Given the description of an element on the screen output the (x, y) to click on. 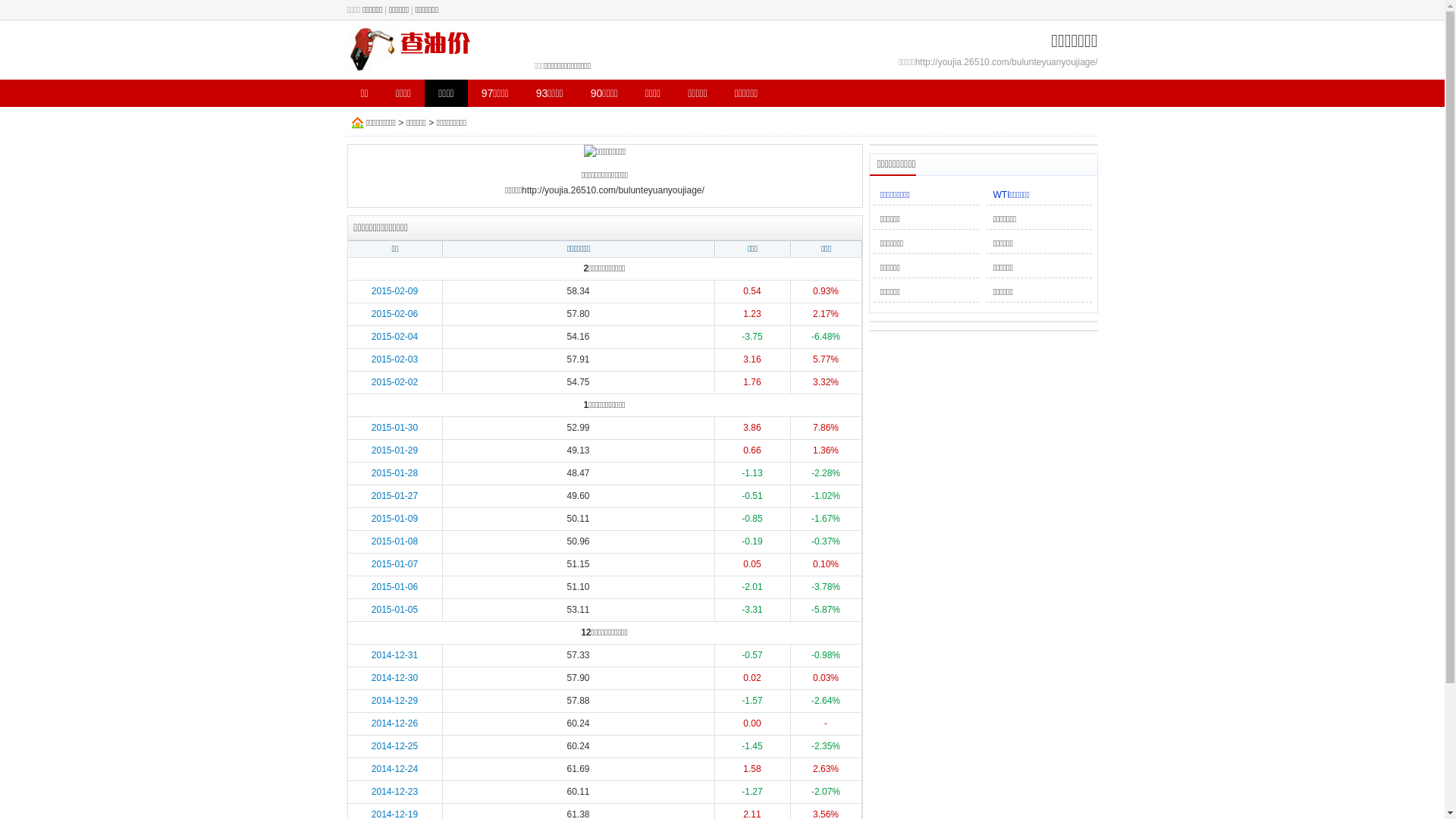
2014-12-25 Element type: text (394, 745)
2015-01-28 Element type: text (394, 472)
2015-01-09 Element type: text (394, 518)
2015-02-06 Element type: text (394, 313)
2014-12-29 Element type: text (394, 700)
2015-01-07 Element type: text (394, 563)
2014-12-23 Element type: text (394, 791)
2015-02-02 Element type: text (394, 381)
2014-12-30 Element type: text (394, 677)
2015-02-09 Element type: text (394, 290)
2015-01-30 Element type: text (394, 427)
2015-01-27 Element type: text (394, 495)
2014-12-31 Element type: text (394, 654)
2015-01-29 Element type: text (394, 450)
2015-02-03 Element type: text (394, 359)
2015-01-08 Element type: text (394, 541)
2014-12-24 Element type: text (394, 768)
2014-12-26 Element type: text (394, 723)
2015-01-05 Element type: text (394, 609)
2015-02-04 Element type: text (394, 336)
2015-01-06 Element type: text (394, 586)
